Given the description of an element on the screen output the (x, y) to click on. 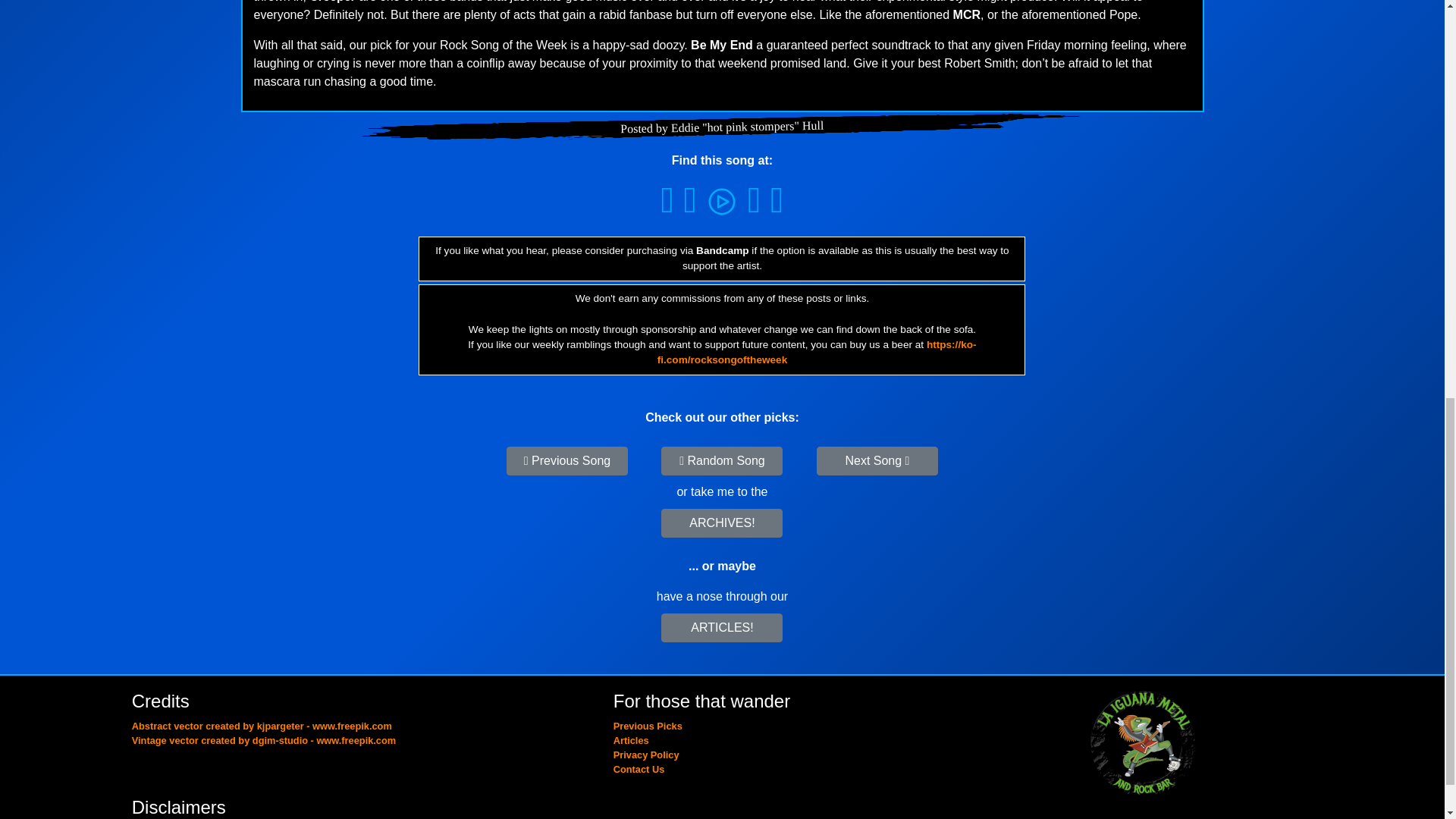
Vintage vector created by dgim-studio - www.freepik.com (264, 740)
Next Song (876, 460)
Privacy Policy (645, 754)
ARTICLES! (722, 627)
ARCHIVES! (722, 522)
Articles (630, 740)
Previous Song (566, 460)
Abstract vector created by kjpargeter - www.freepik.com (261, 726)
Previous Picks (647, 726)
Contact Us (638, 768)
Random Song (722, 460)
